Given the description of an element on the screen output the (x, y) to click on. 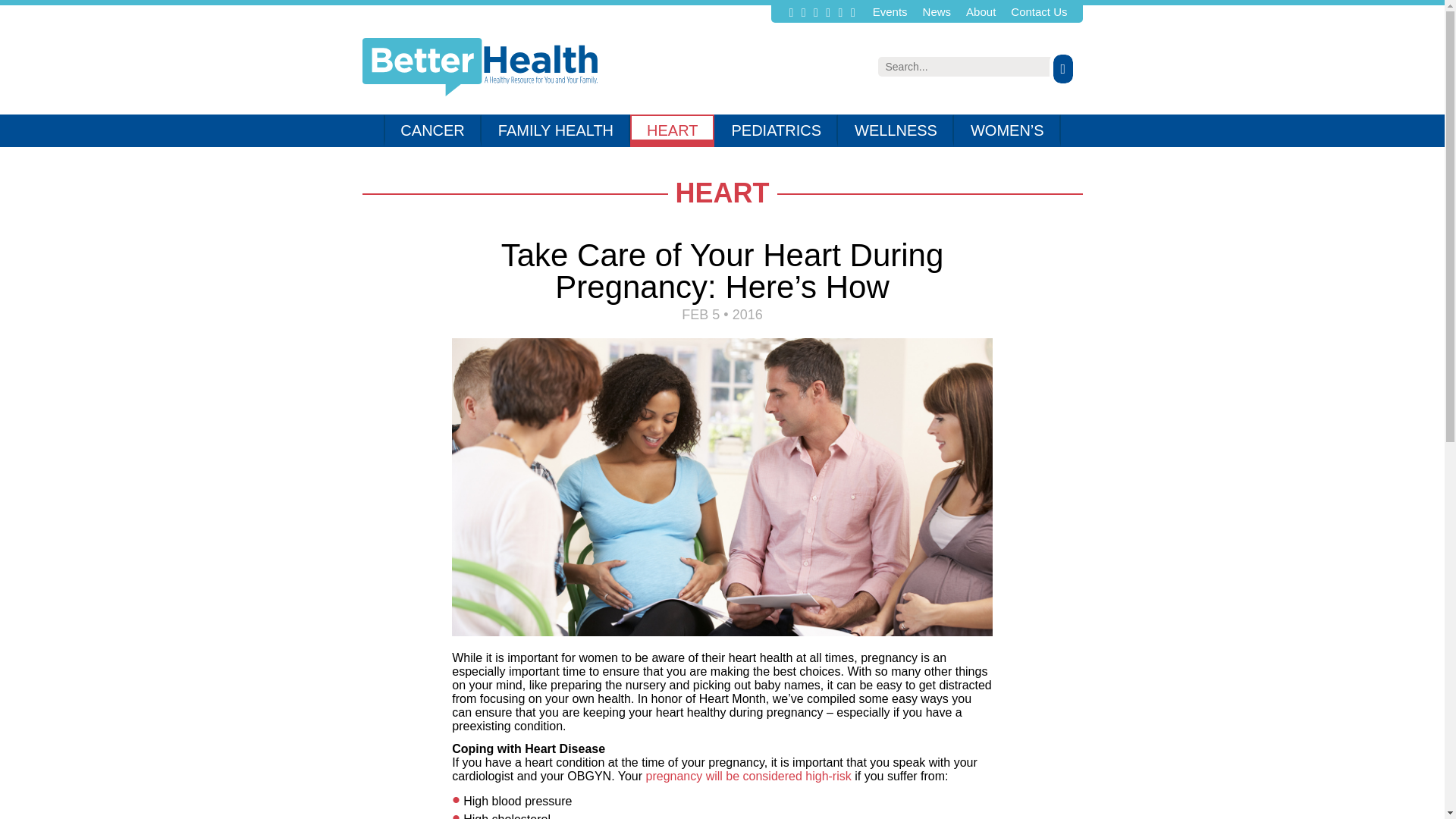
Contact Us (1038, 11)
HEART (672, 130)
News (937, 11)
WELLNESS (895, 130)
Events (889, 11)
About (980, 11)
FAMILY HEALTH (555, 130)
CANCER (432, 130)
PEDIATRICS (776, 130)
pregnancy will be considered high-risk (748, 775)
